Given the description of an element on the screen output the (x, y) to click on. 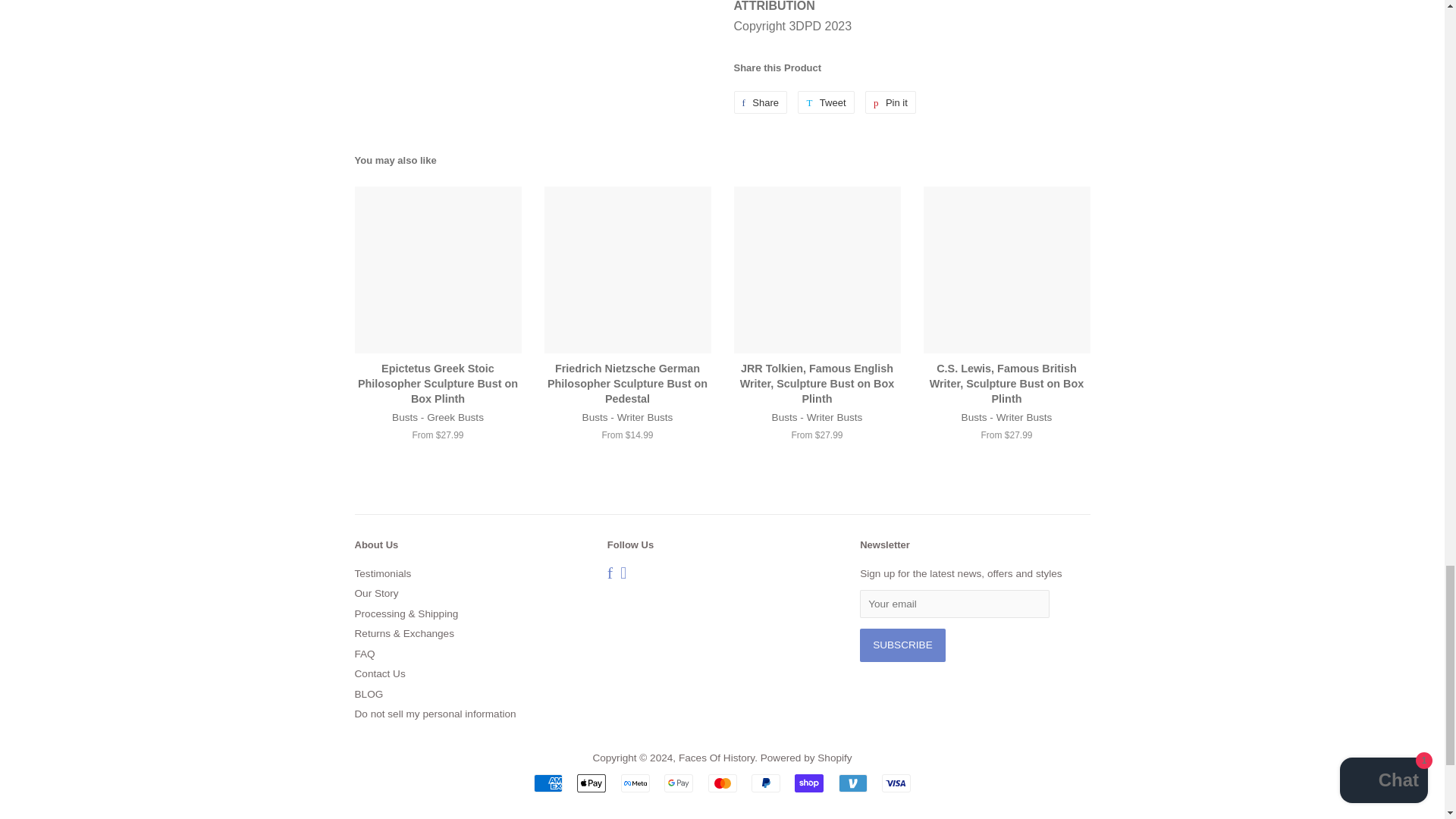
Pin on Pinterest (889, 101)
Meta Pay (635, 782)
Mastercard (721, 782)
Subscribe (902, 644)
Venmo (852, 782)
Shop Pay (809, 782)
Visa (896, 782)
PayPal (765, 782)
Tweet on Twitter (825, 101)
American Express (548, 782)
Google Pay (678, 782)
Apple Pay (590, 782)
Share on Facebook (760, 101)
